Given the description of an element on the screen output the (x, y) to click on. 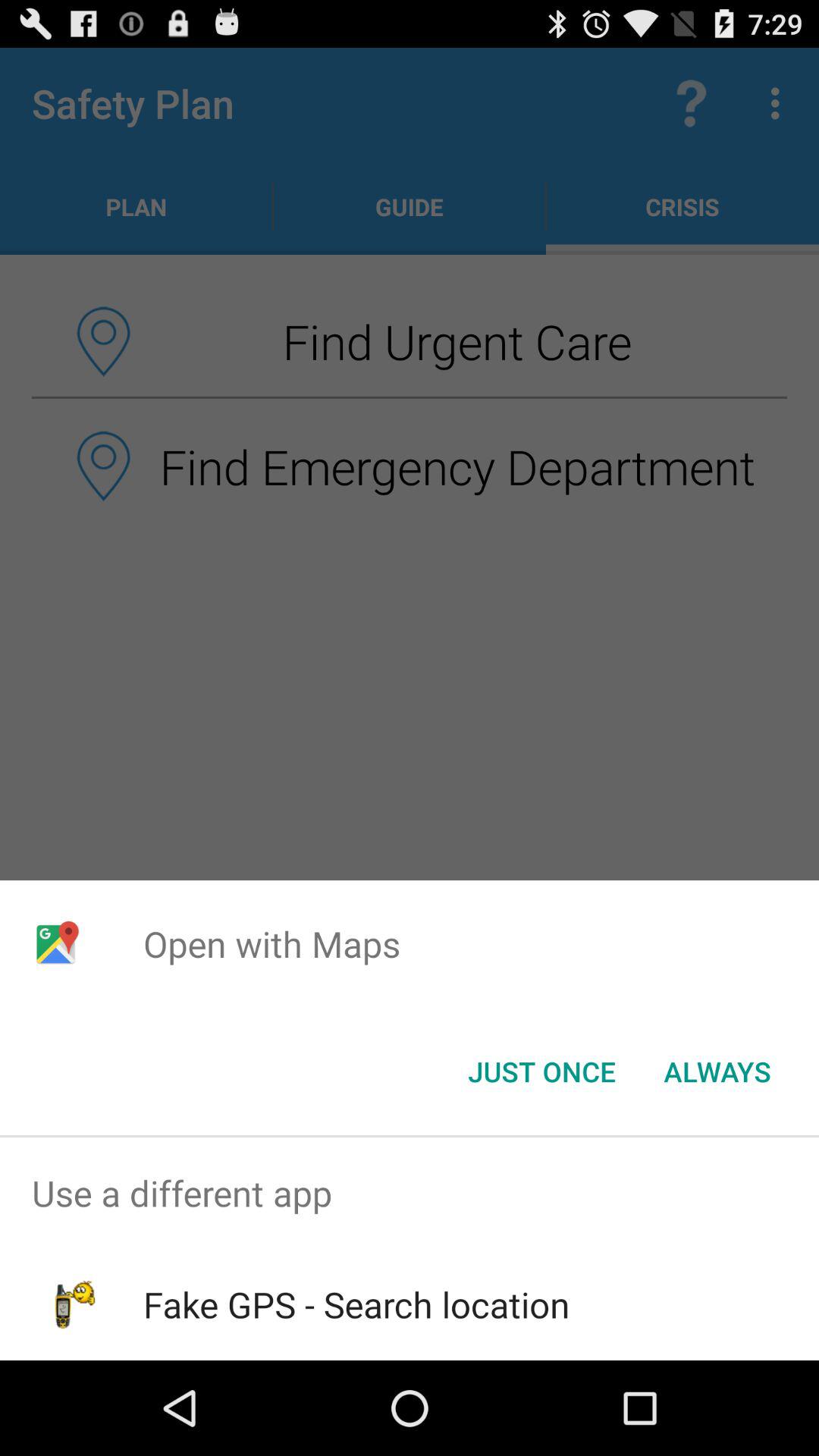
swipe until the just once icon (541, 1071)
